Given the description of an element on the screen output the (x, y) to click on. 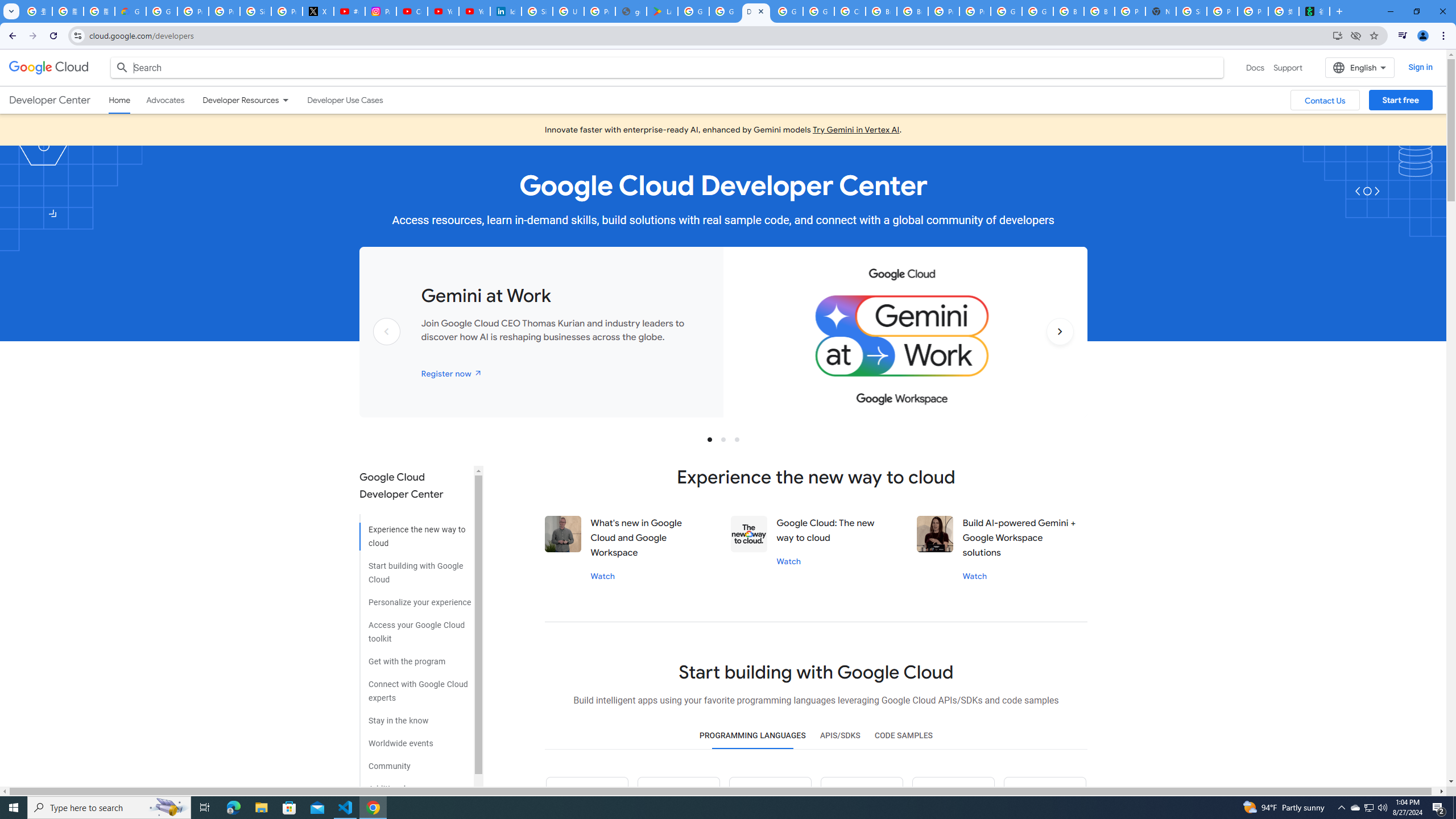
Stephanie wong's interview session (935, 533)
Slide 1 (709, 438)
Google Workspace - Specific Terms (724, 11)
